Given the description of an element on the screen output the (x, y) to click on. 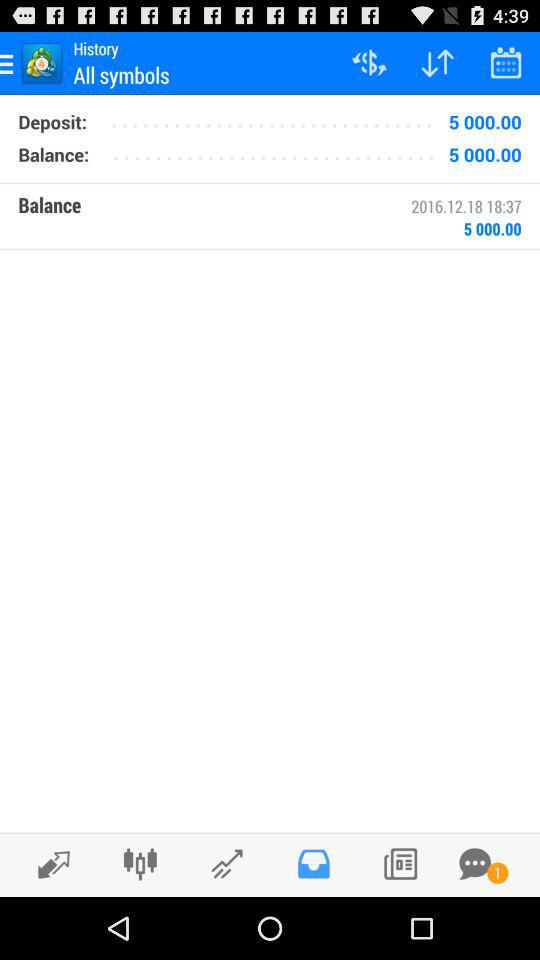
buy or sell (48, 864)
